Given the description of an element on the screen output the (x, y) to click on. 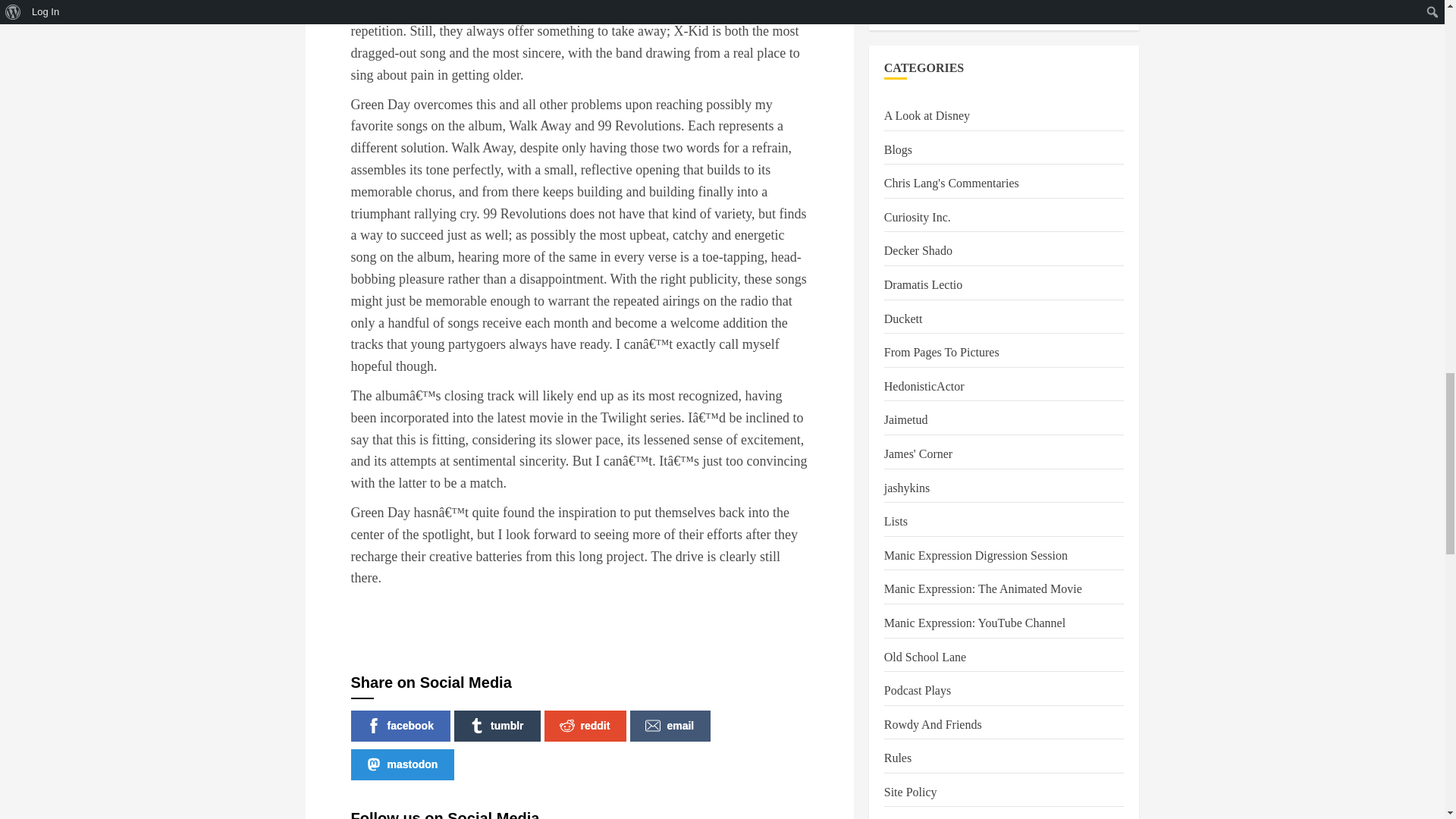
facebook (399, 726)
email (670, 726)
mastodon (402, 764)
tumblr (497, 726)
reddit (585, 726)
